Given the description of an element on the screen output the (x, y) to click on. 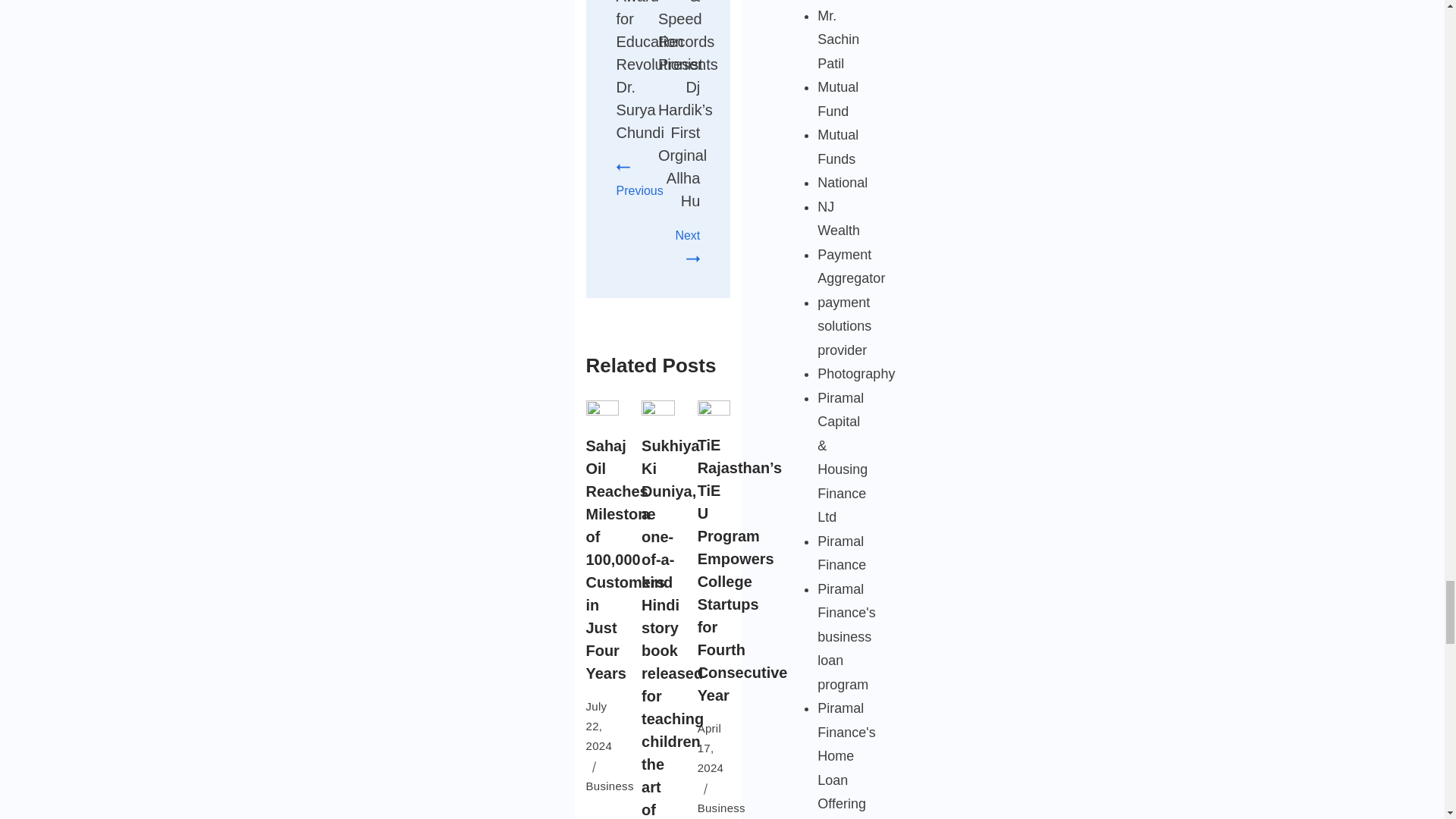
Business (609, 785)
Business (721, 807)
Previous (638, 179)
